Given the description of an element on the screen output the (x, y) to click on. 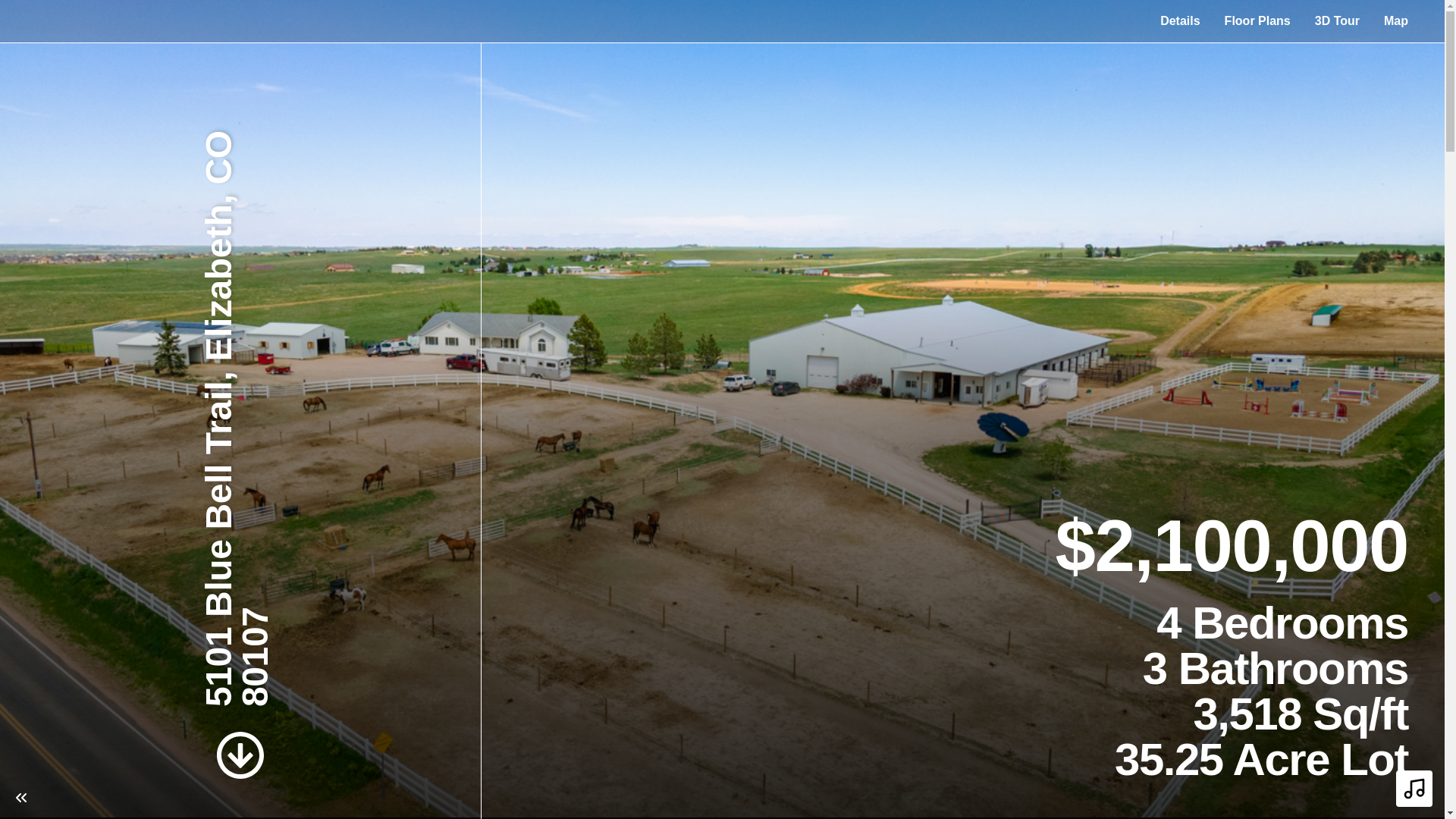
Map (1396, 20)
Scroll to Content (239, 755)
Floor Plans (1257, 20)
3D Tour (1337, 20)
Scroll to Content (239, 755)
Details (1179, 20)
